Given the description of an element on the screen output the (x, y) to click on. 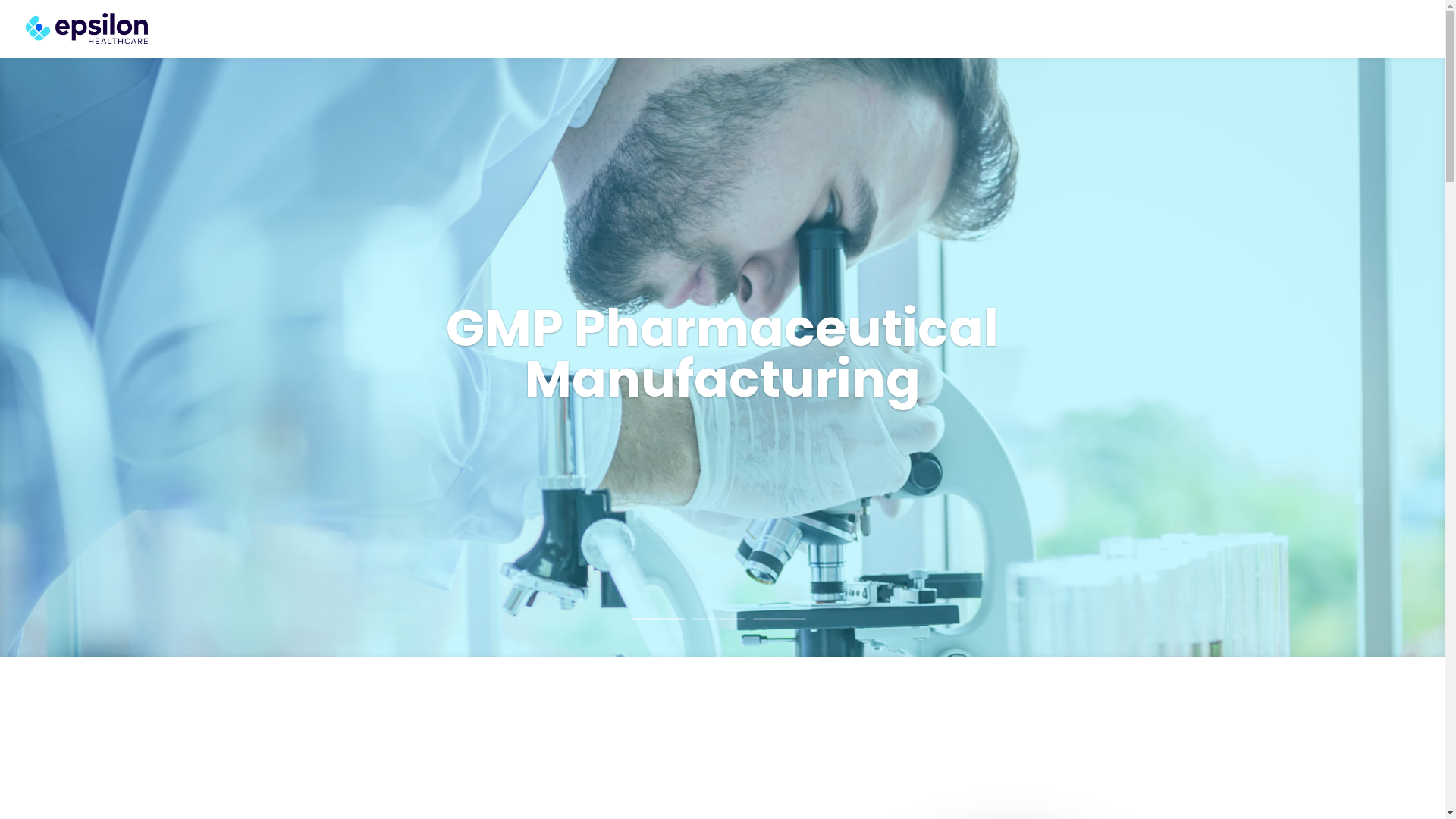
3 Element type: text (778, 619)
2 Element type: text (717, 619)
1 Element type: text (657, 619)
